Given the description of an element on the screen output the (x, y) to click on. 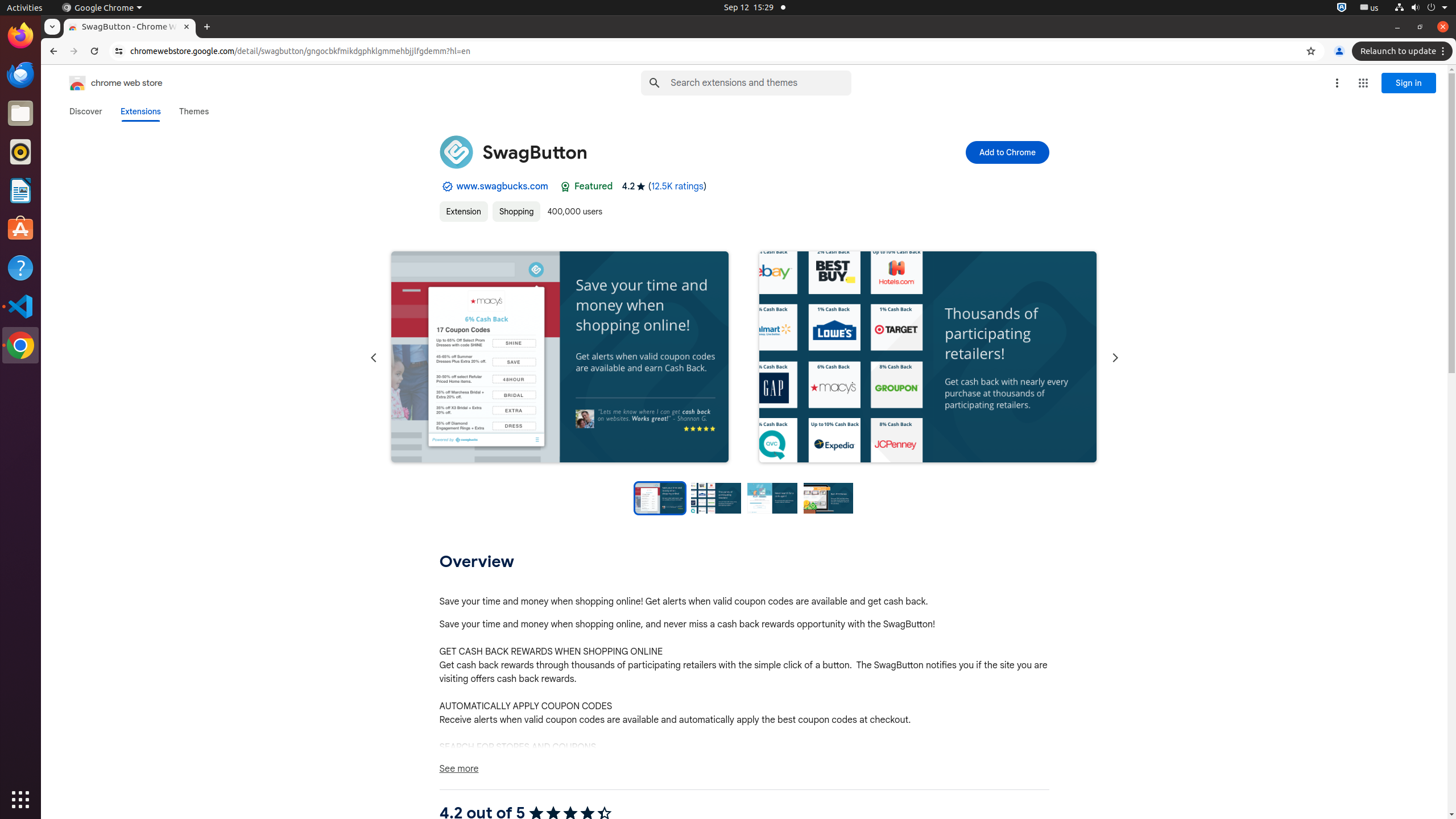
Preview slide 3 Element type: push-button (772, 498)
Thunderbird Mail Element type: push-button (20, 74)
Rhythmbox Element type: push-button (20, 151)
Ubuntu Software Element type: push-button (20, 229)
Themes Element type: page-tab (193, 111)
